Given the description of an element on the screen output the (x, y) to click on. 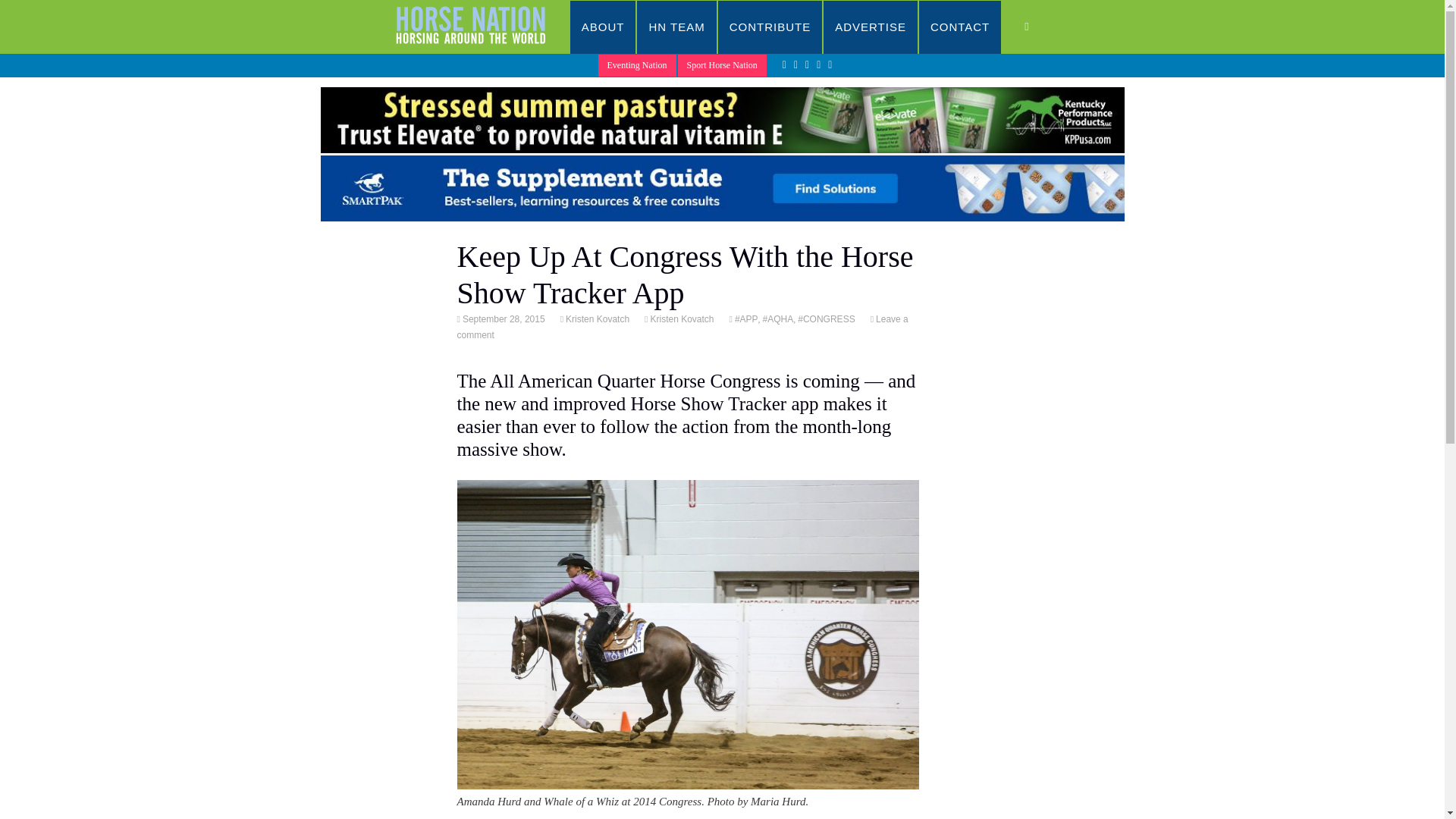
Kristen Kovatch (595, 318)
CONTRIBUTE (769, 27)
Leave a comment (682, 326)
SEARCH (1041, 27)
September 28, 2015 (502, 318)
View all posts by Kristen Kovatch (595, 318)
CONTACT (959, 27)
Sport Horse Nation (722, 65)
ABOUT (603, 27)
Eventing Nation (637, 65)
Kristen Kovatch (680, 318)
ADVERTISE (870, 27)
HN TEAM (676, 27)
